Given the description of an element on the screen output the (x, y) to click on. 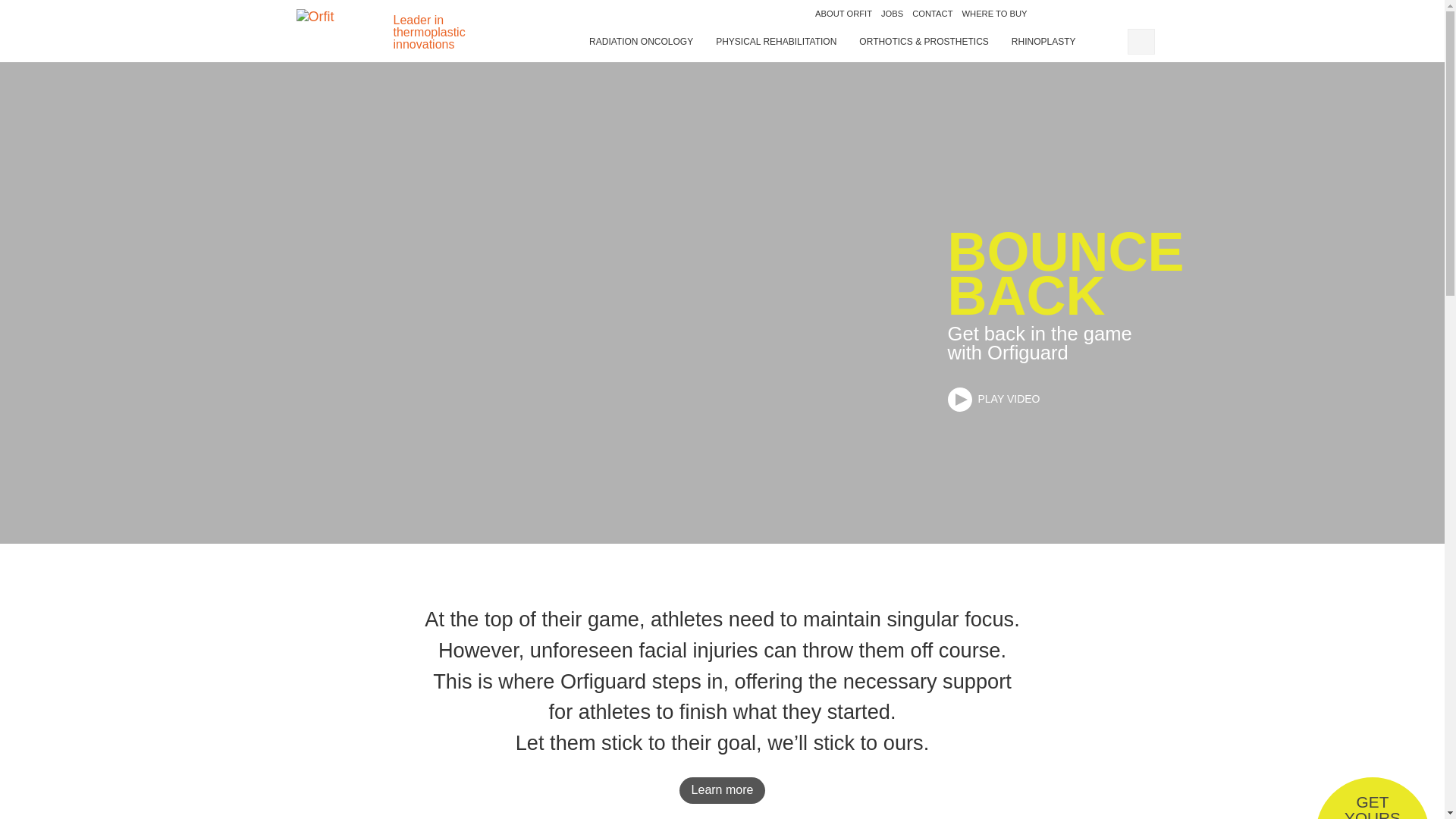
JOBS (891, 13)
ABOUT ORFIT (641, 41)
CONTACT (775, 41)
WHERE TO BUY (843, 13)
home (931, 13)
